Given the description of an element on the screen output the (x, y) to click on. 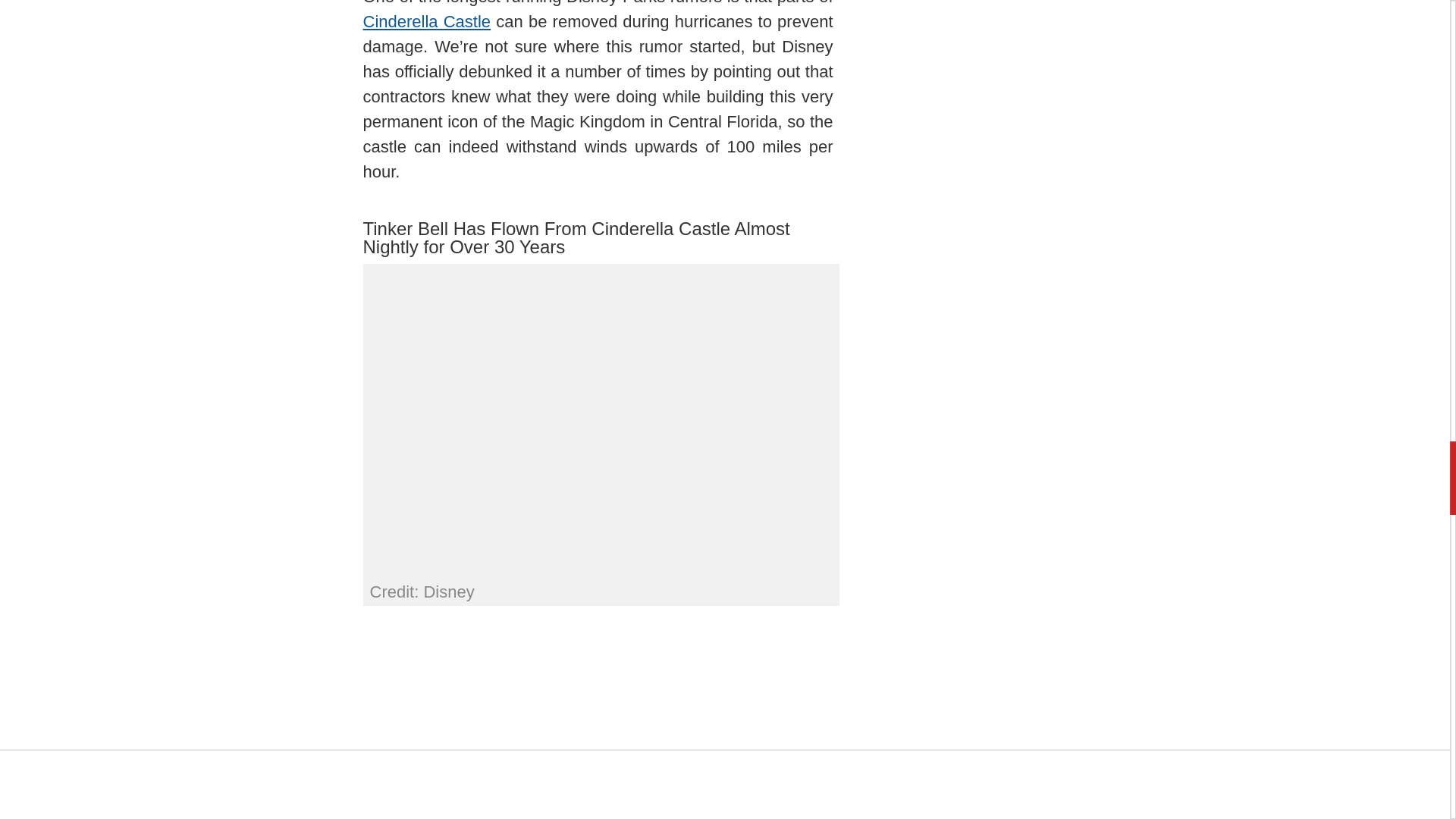
Cinderella Castle (426, 21)
